Given the description of an element on the screen output the (x, y) to click on. 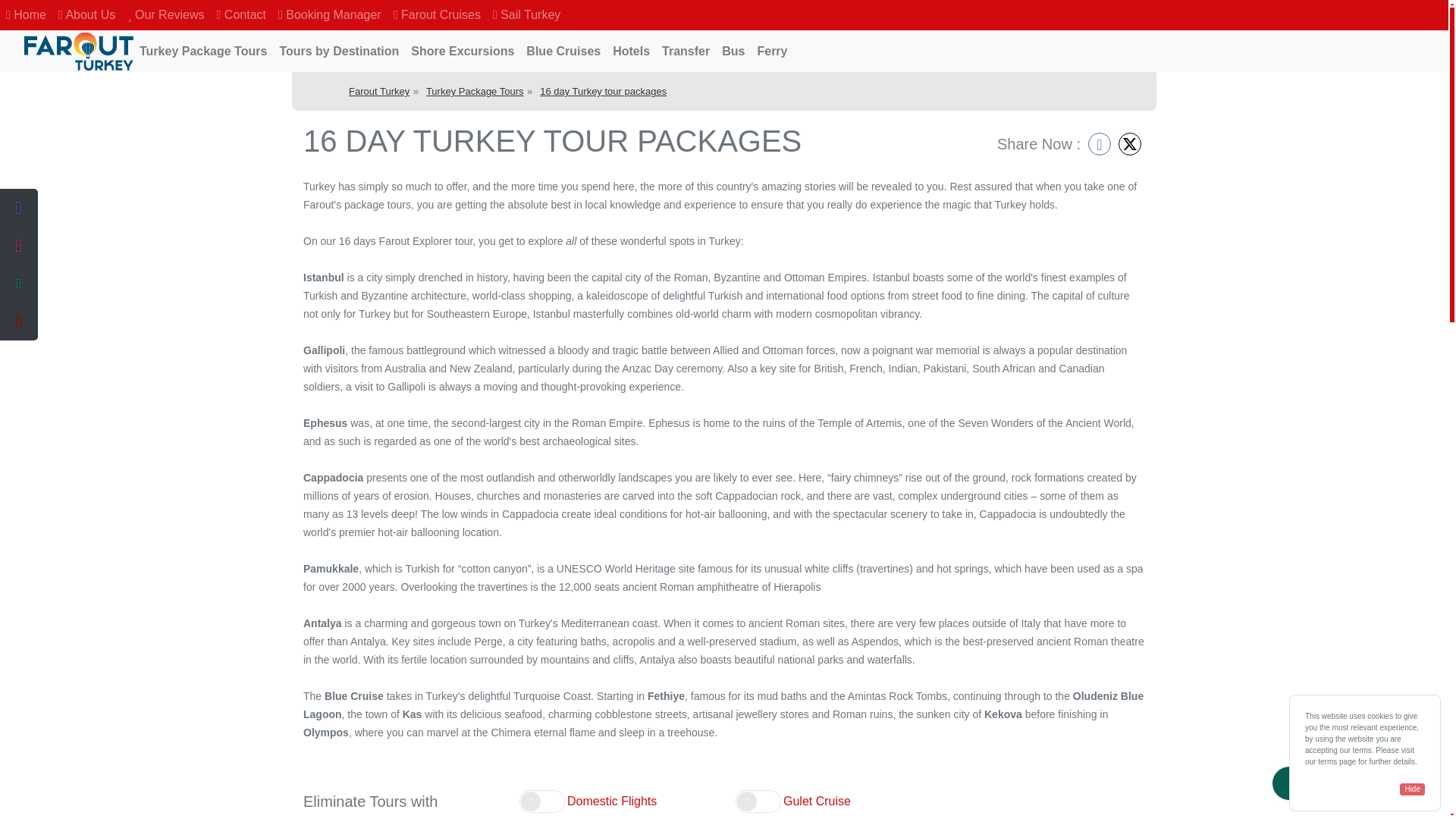
Home (26, 15)
Farout Cruises (436, 15)
About Us (86, 15)
Sail Turkey (526, 15)
Tours by Destination (338, 51)
Turkey Package Tours (203, 51)
Sail Turkey (526, 15)
Farout Turkey Package Tours Homepage (78, 50)
Booking Manager (329, 15)
Farout Cruises (436, 15)
